Given the description of an element on the screen output the (x, y) to click on. 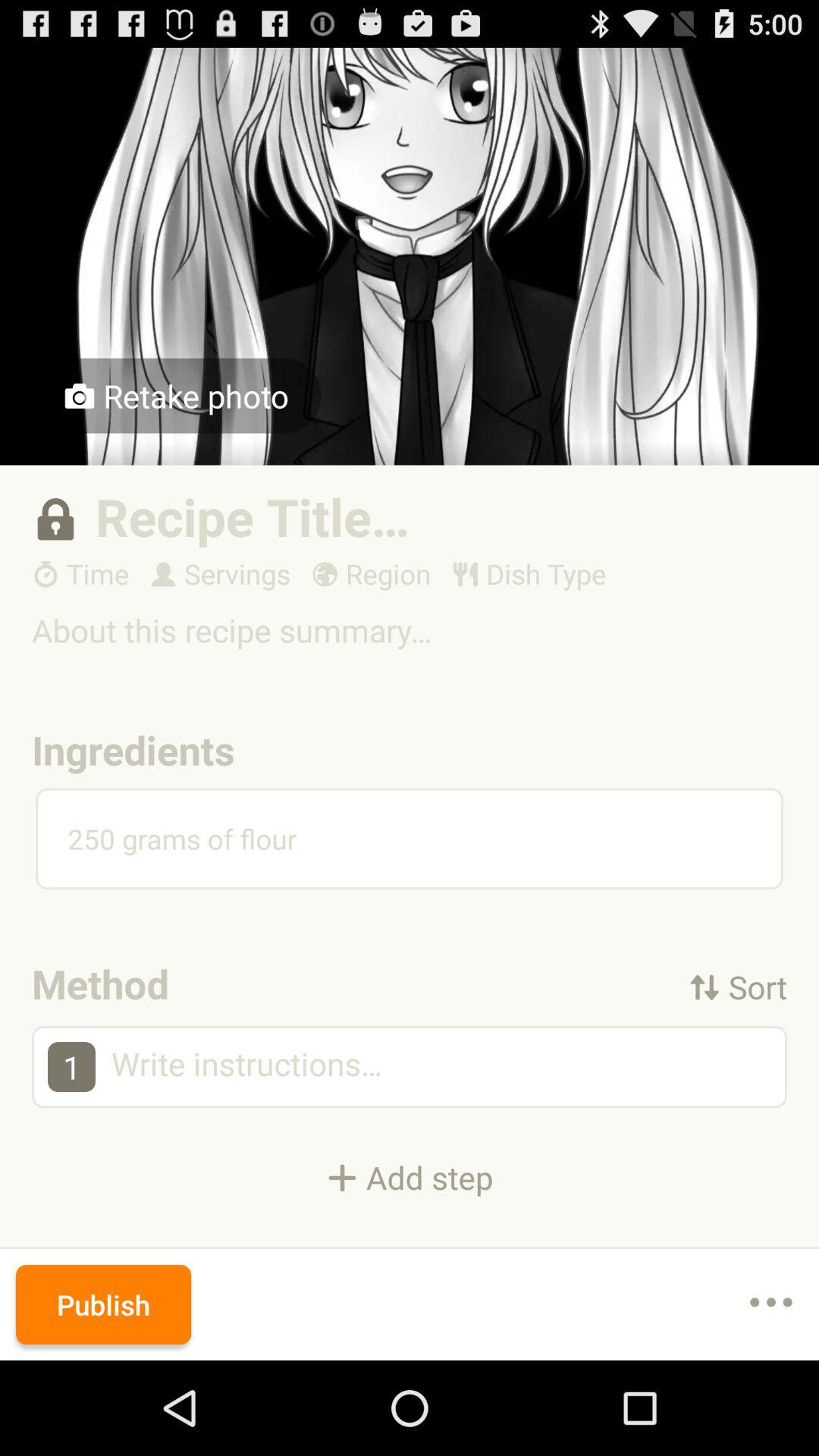
open item next to method (737, 986)
